Given the description of an element on the screen output the (x, y) to click on. 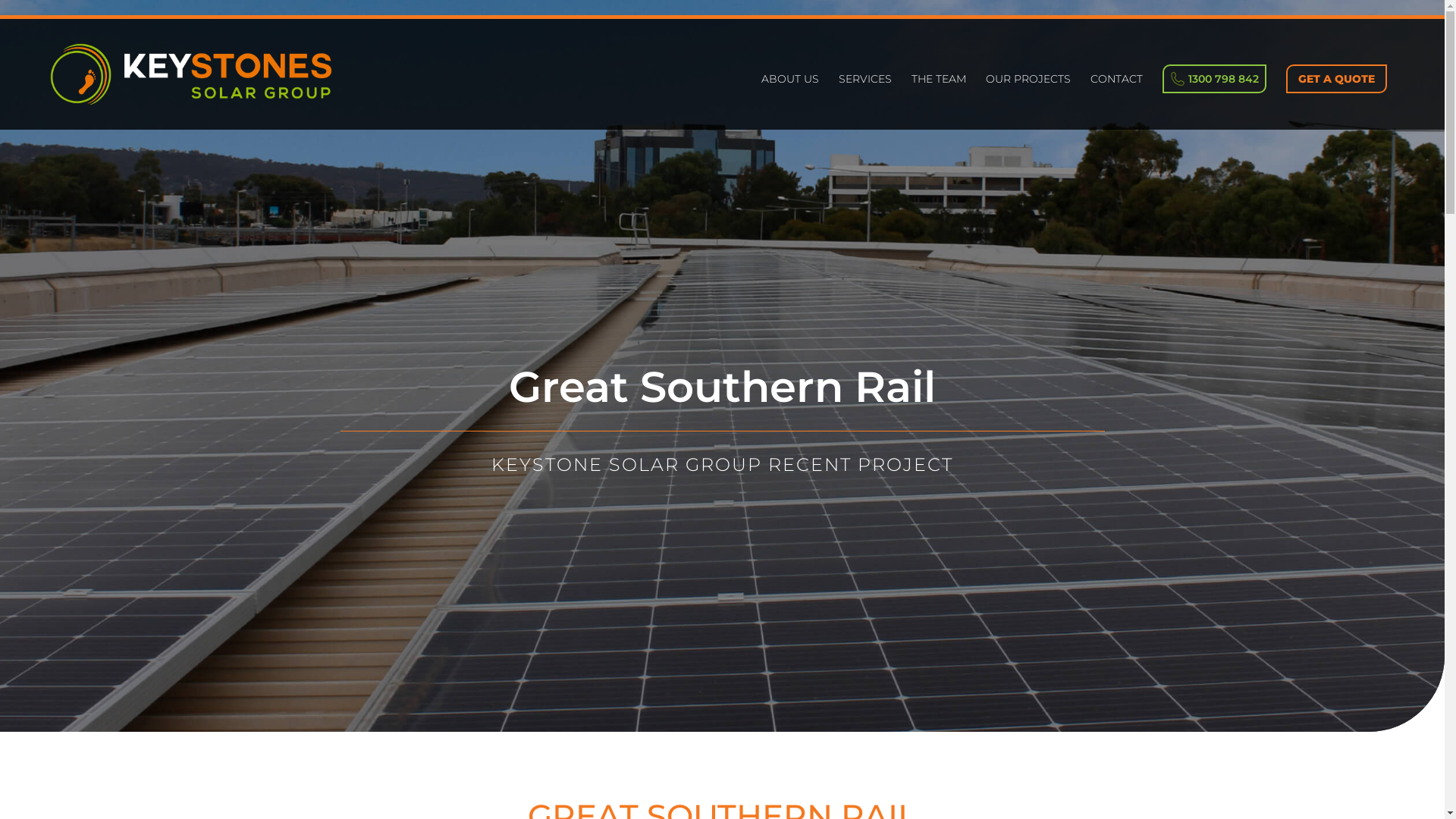
ABOUT US Element type: text (790, 101)
THE TEAM Element type: text (938, 101)
OUR PROJECTS Element type: text (1027, 101)
GET A QUOTE Element type: text (1336, 78)
1300 798 842 Element type: text (1214, 78)
SERVICES Element type: text (864, 101)
CONTACT Element type: text (1116, 101)
